Given the description of an element on the screen output the (x, y) to click on. 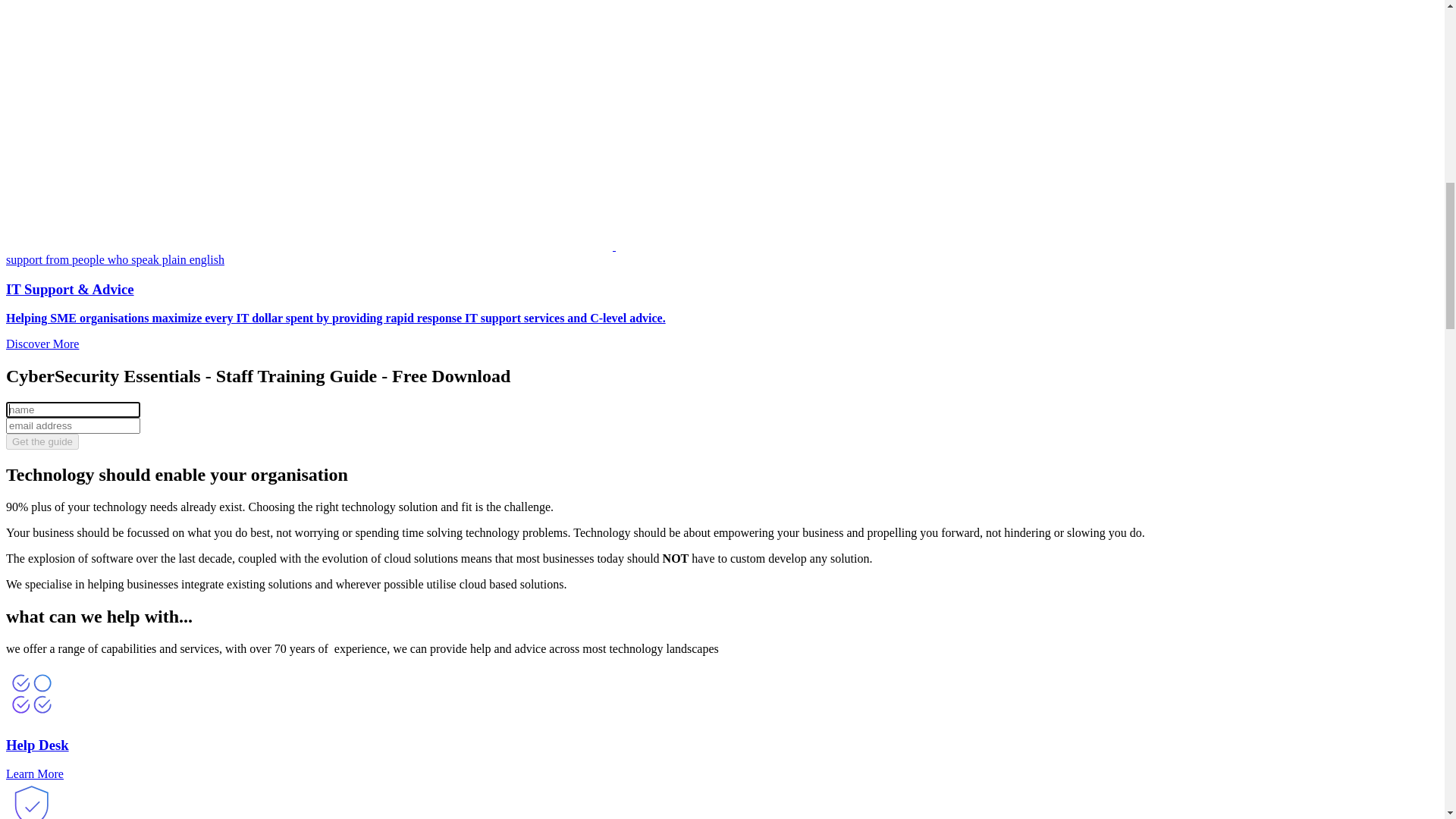
Contact Element type: text (55, 561)
Blog Element type: text (47, 184)
Menu Element type: text (722, 454)
About Element type: text (51, 533)
HelpDesk Element type: text (60, 574)
Home Element type: text (50, 492)
Skip to main content Element type: text (56, 12)
Services Element type: text (56, 144)
Web & Graphic Design Element type: text (93, 520)
Web & Graphic Design Element type: text (93, 157)
1300 460 511 Element type: text (69, 225)
About Element type: text (51, 171)
Contact Element type: text (55, 198)
Home Element type: text (50, 130)
1300 460 511 Element type: text (69, 588)
HelpDesk Element type: text (60, 212)
Services Element type: text (56, 506)
Blog Element type: text (47, 547)
